Given the description of an element on the screen output the (x, y) to click on. 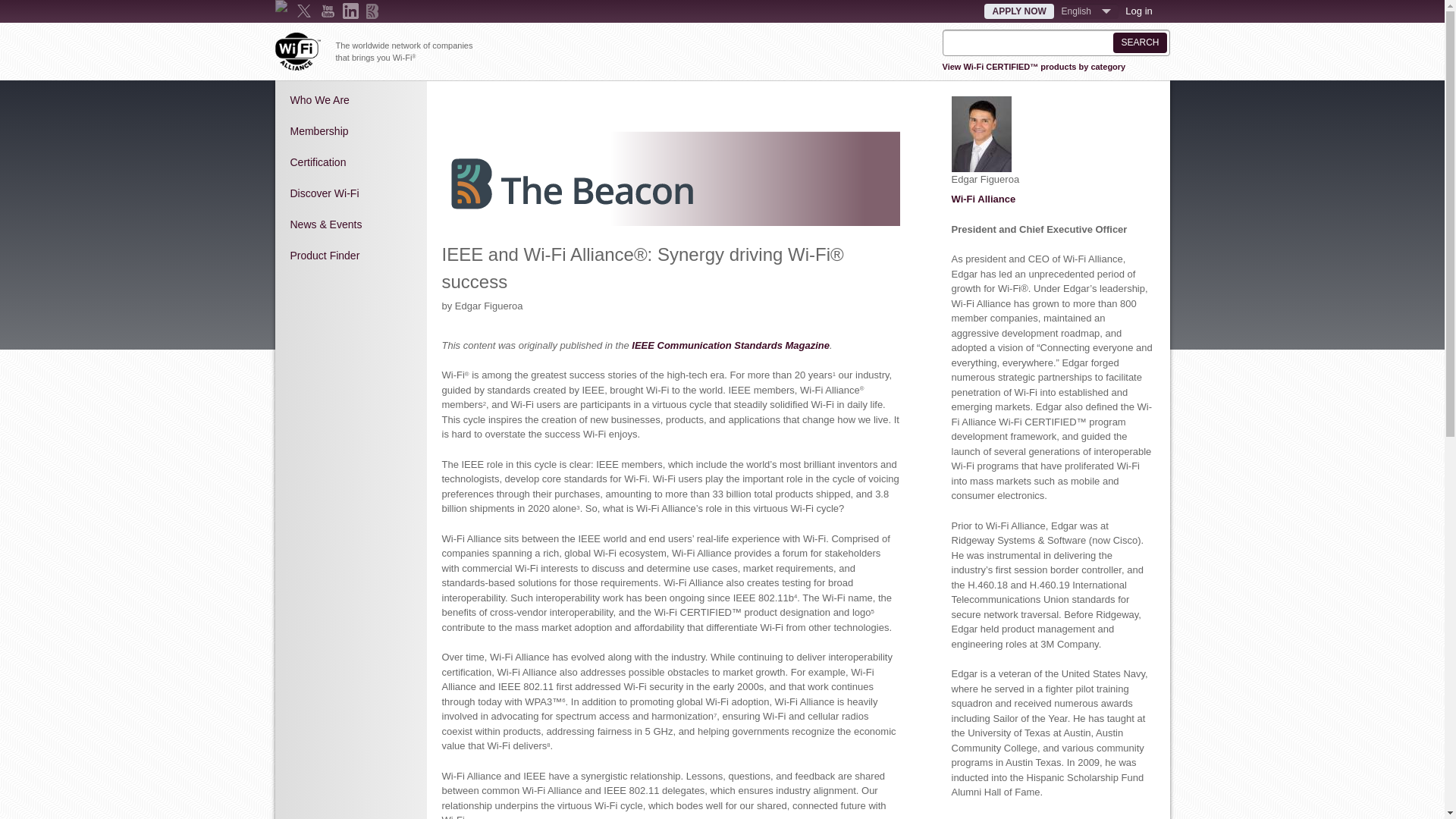
Share to X (472, 103)
Who We Are (350, 100)
Membership (350, 131)
SEARCH (1139, 42)
Share to Email (515, 103)
Share to Facebook (452, 103)
Discover Wi-Fi (350, 193)
SEARCH (1139, 42)
Certification (350, 162)
Log in (1138, 10)
APPLY NOW (1018, 11)
Share to Linkedin (494, 103)
